Given the description of an element on the screen output the (x, y) to click on. 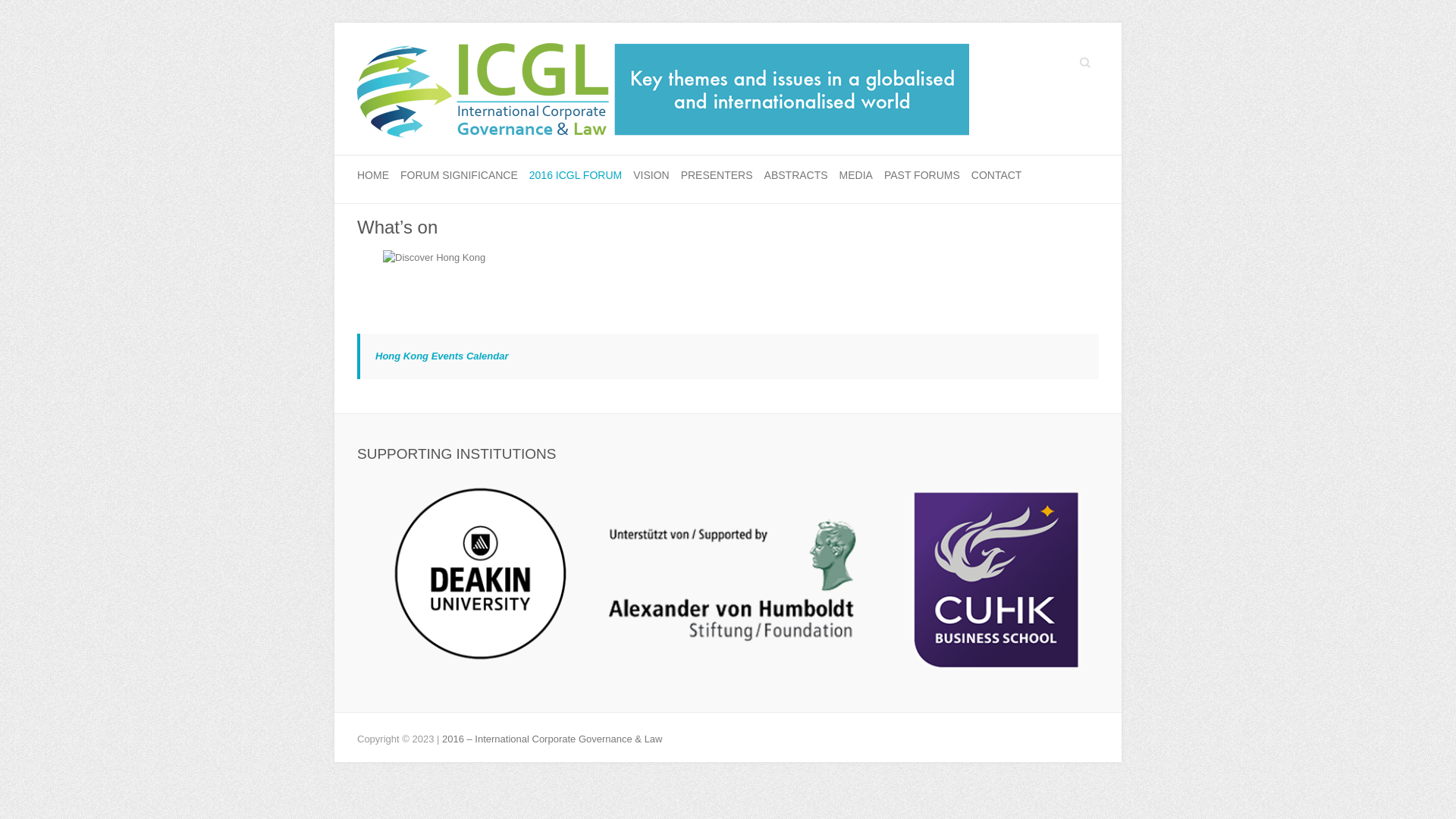
PAST FORUMS Element type: text (922, 176)
VISION Element type: text (650, 176)
HOME Element type: text (373, 176)
ABSTRACTS Element type: text (796, 176)
Hong Kong Events Calendar Element type: text (441, 355)
Supporting Institutions Element type: hover (739, 583)
FORUM SIGNIFICANCE Element type: text (458, 176)
Discover Hong Kong Element type: hover (433, 257)
CONTACT Element type: text (996, 176)
2016 ICGL FORUM Element type: text (575, 176)
MEDIA Element type: text (855, 176)
PRESENTERS Element type: text (716, 176)
